Given the description of an element on the screen output the (x, y) to click on. 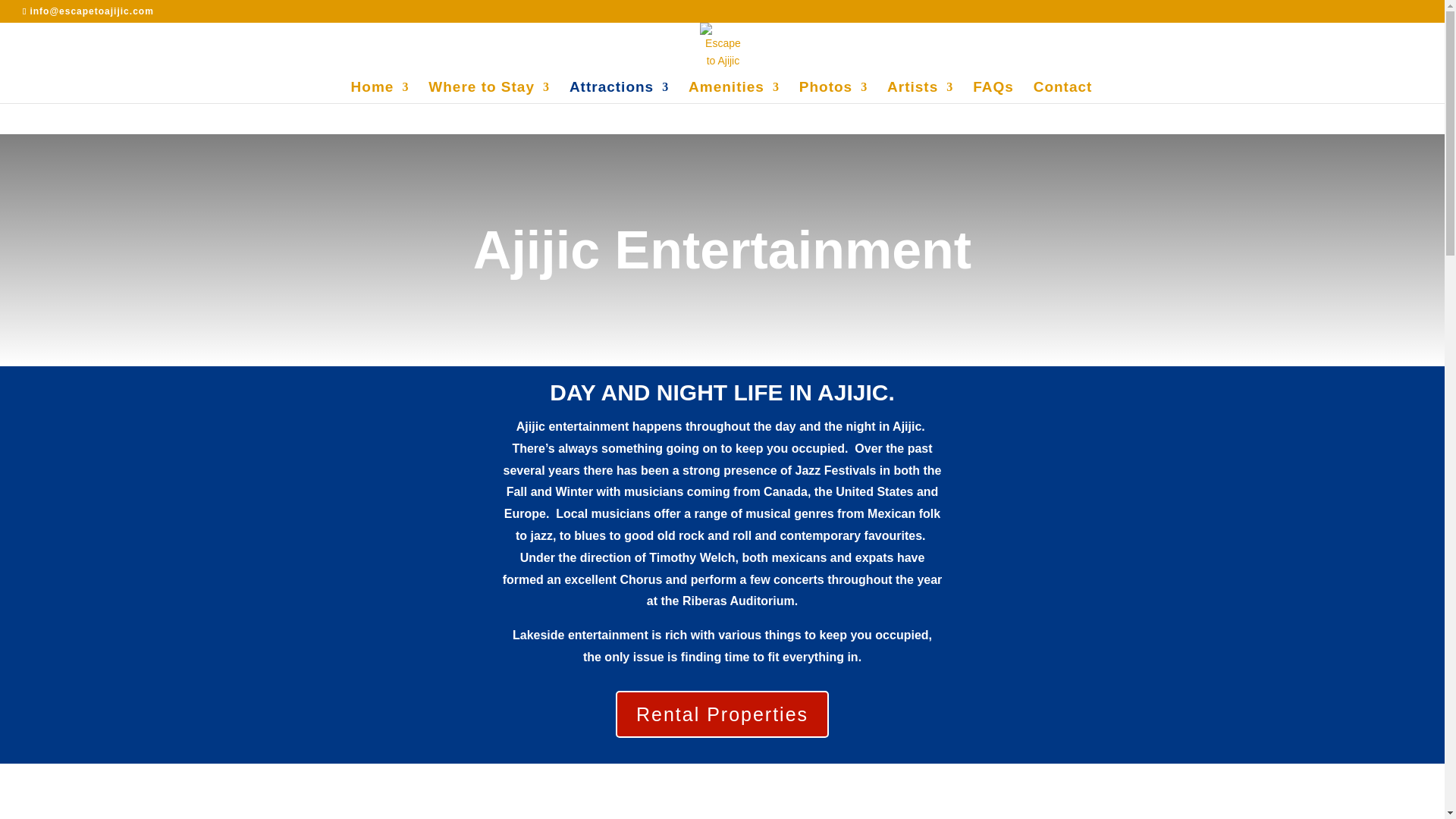
Amenities (733, 92)
Artists (919, 92)
Attractions (618, 92)
Contact (1063, 92)
FAQs (992, 92)
Where to Stay (489, 92)
Home (379, 92)
Photos (833, 92)
Rental Properties (721, 714)
